Given the description of an element on the screen output the (x, y) to click on. 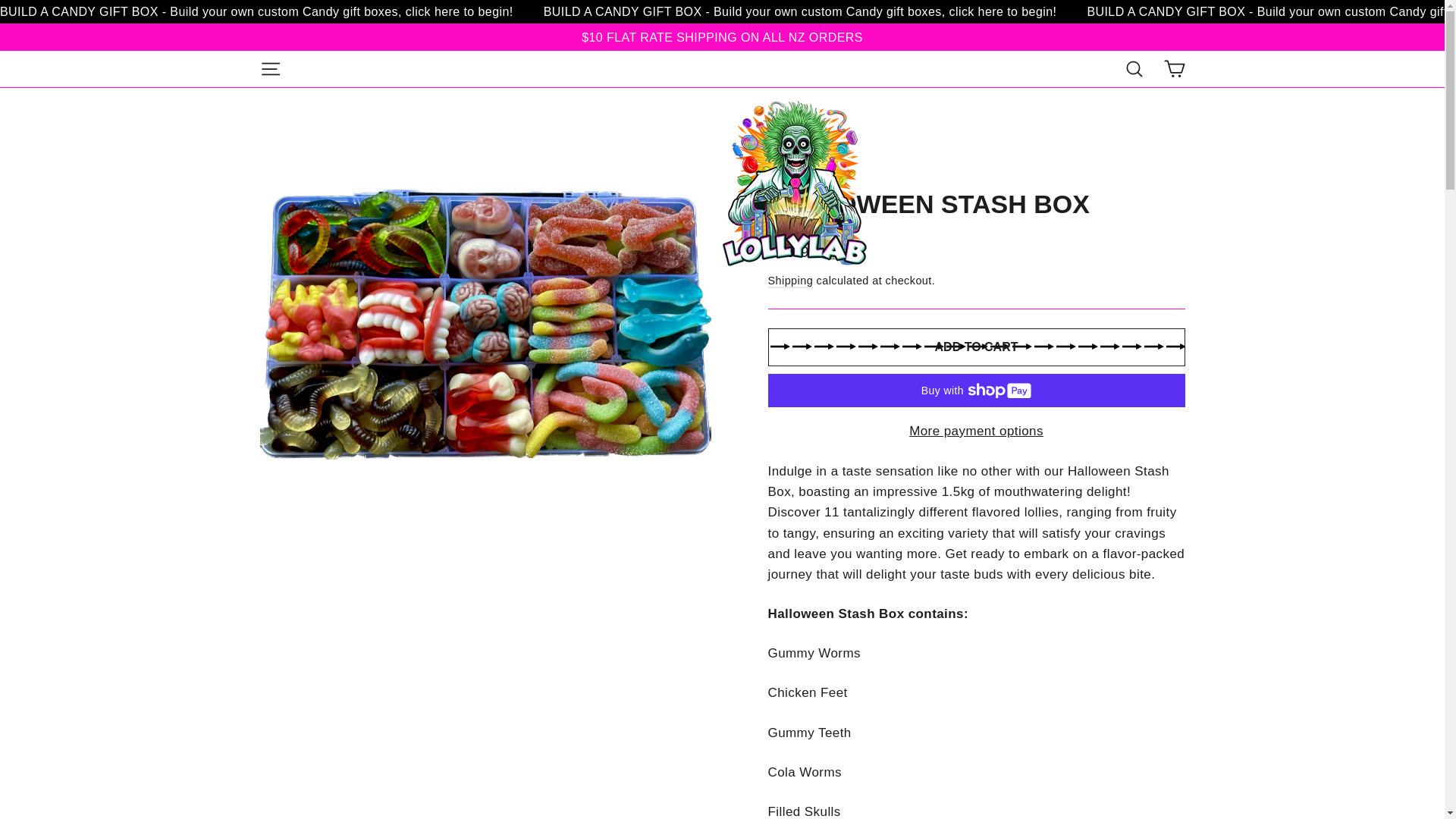
Shipping (789, 281)
More payment options (976, 431)
Search (1134, 68)
Cart (1173, 68)
ADD TO CART (976, 347)
Site navigation (269, 68)
